Given the description of an element on the screen output the (x, y) to click on. 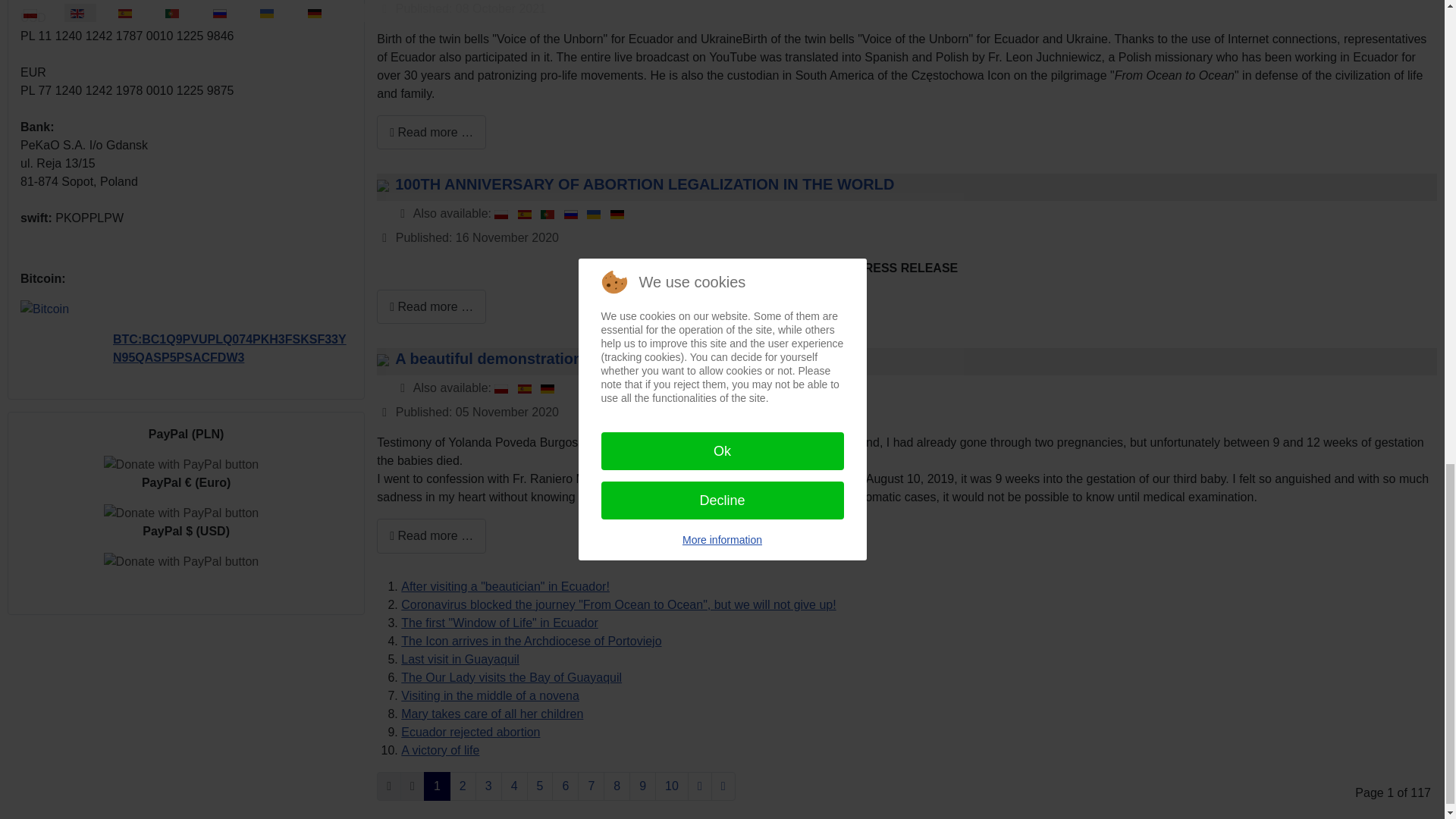
BTC:BC1Q9PVUPLQ074PKH3FSKSF33YN95QASP5PSACFDW3 (229, 347)
PayPal - The safer, easier way to pay online! (181, 513)
PayPal - The safer, easier way to pay online! (181, 464)
PayPal - The safer, easier way to pay online! (181, 561)
